Given the description of an element on the screen output the (x, y) to click on. 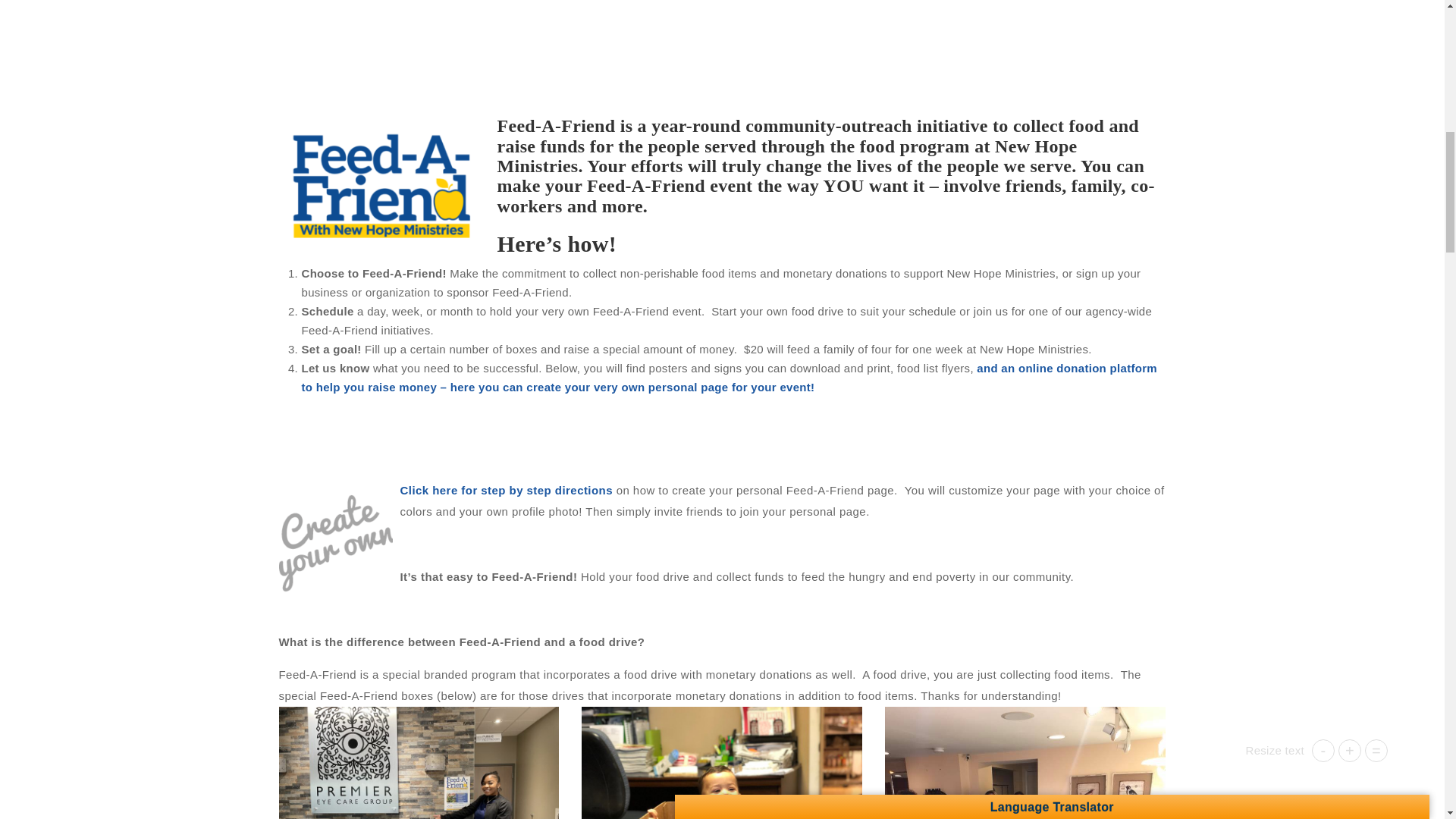
Click here for step by step directions (506, 490)
Feed A Friend (419, 762)
roots salon food drive (1025, 762)
Feed A Friend in a box (720, 762)
